Given the description of an element on the screen output the (x, y) to click on. 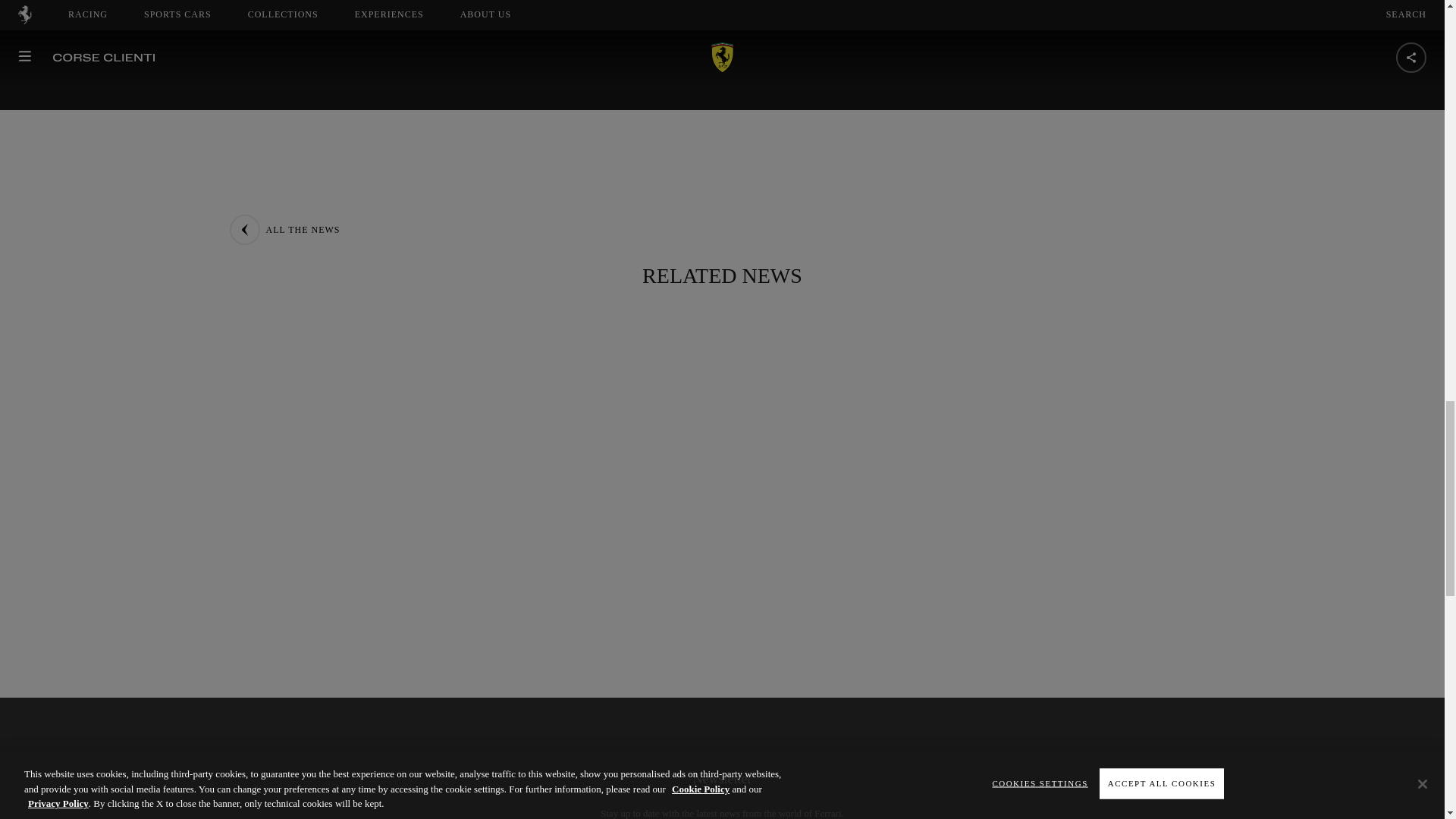
SEASON 2022 (512, 168)
COTA (614, 168)
